Given the description of an element on the screen output the (x, y) to click on. 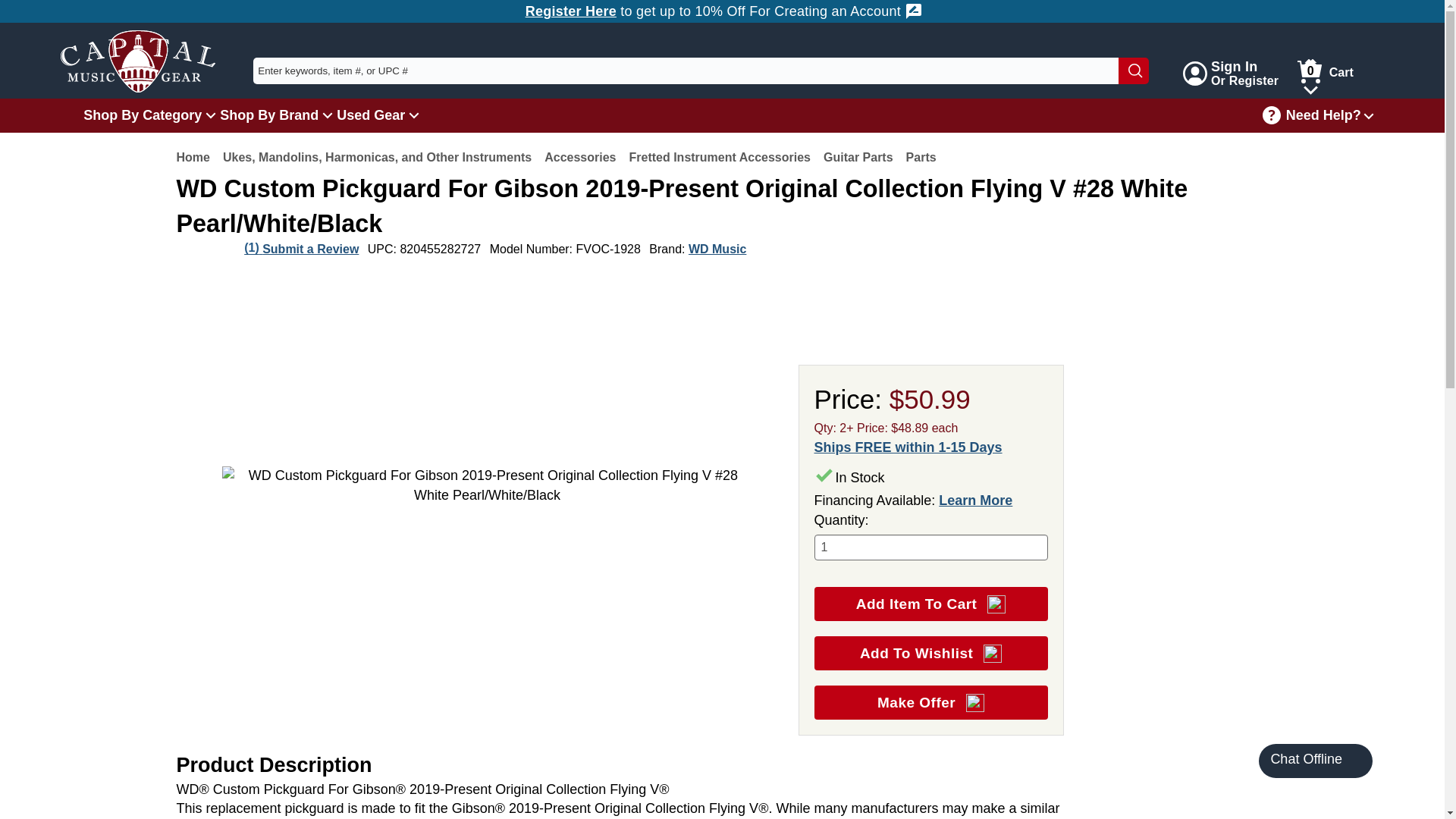
Parts (920, 156)
Guitar Parts (858, 156)
1 (930, 547)
Accessories (1228, 73)
Ukes, Mandolins, Harmonicas, and Other Instruments (579, 156)
Shop By Category (376, 156)
Fretted Instrument Accessories (142, 114)
Home (719, 156)
Home (192, 156)
